Given the description of an element on the screen output the (x, y) to click on. 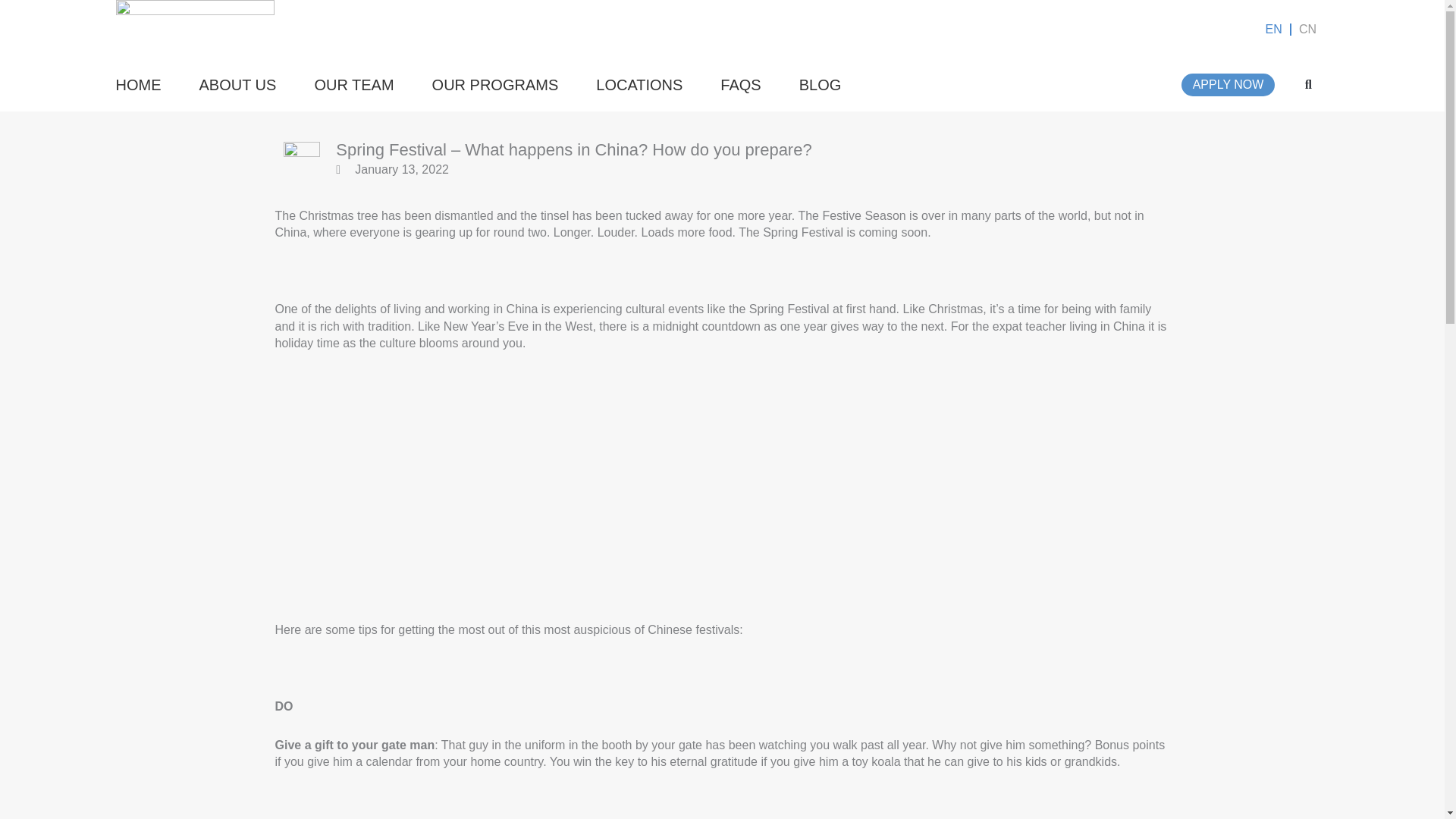
CN (1307, 28)
LOCATIONS (638, 84)
OUR TEAM (353, 84)
OUR PROGRAMS (495, 84)
EN (1272, 28)
ABOUT US (237, 84)
APPLY NOW (1227, 84)
